Given the description of an element on the screen output the (x, y) to click on. 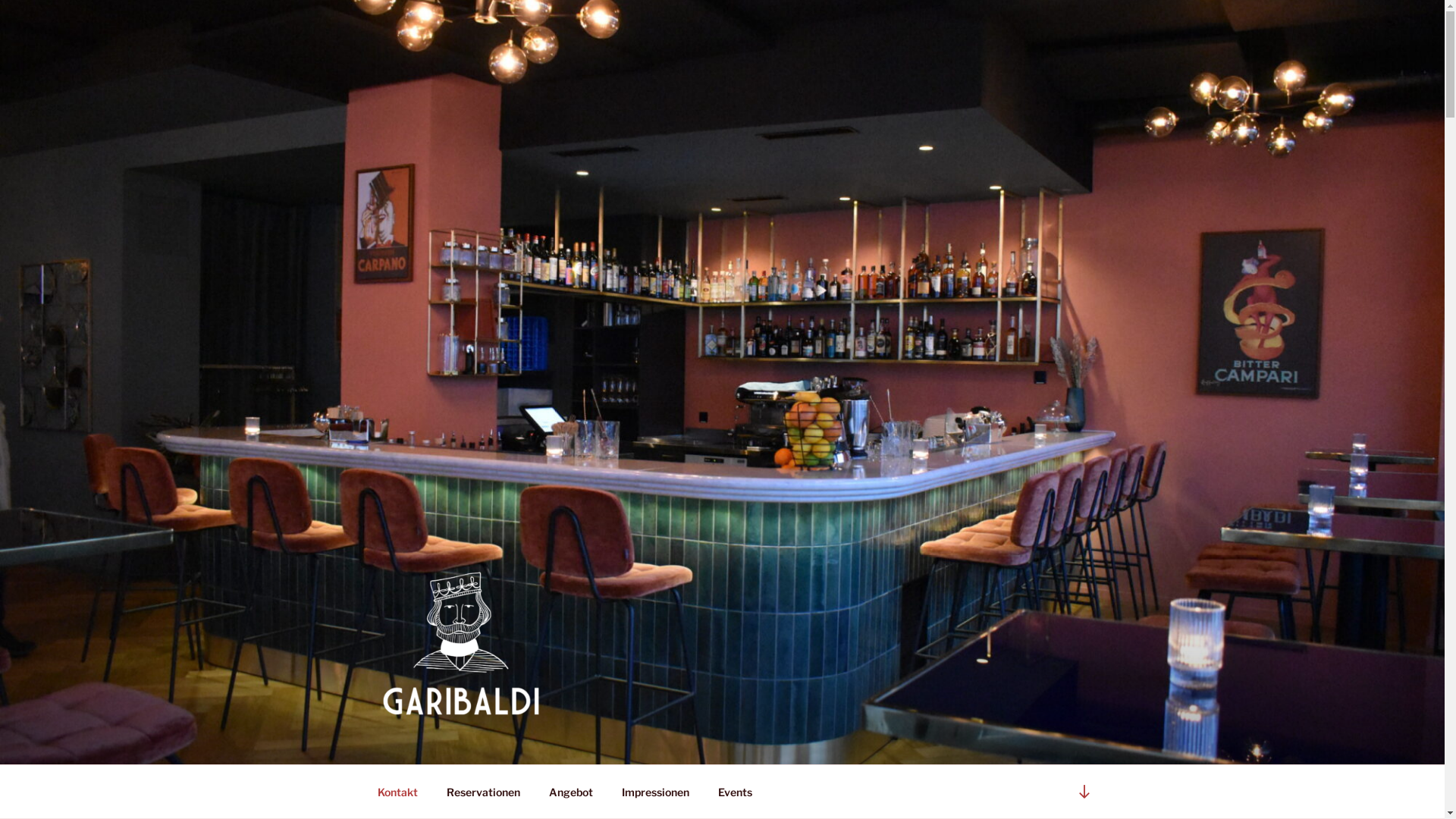
Zum Inhalt nach unten scrollen Element type: text (1083, 790)
Events Element type: text (735, 791)
GARIBALDI Element type: text (467, 744)
Impressionen Element type: text (655, 791)
Angebot Element type: text (570, 791)
Reservationen Element type: text (483, 791)
Kontakt Element type: text (397, 791)
